Given the description of an element on the screen output the (x, y) to click on. 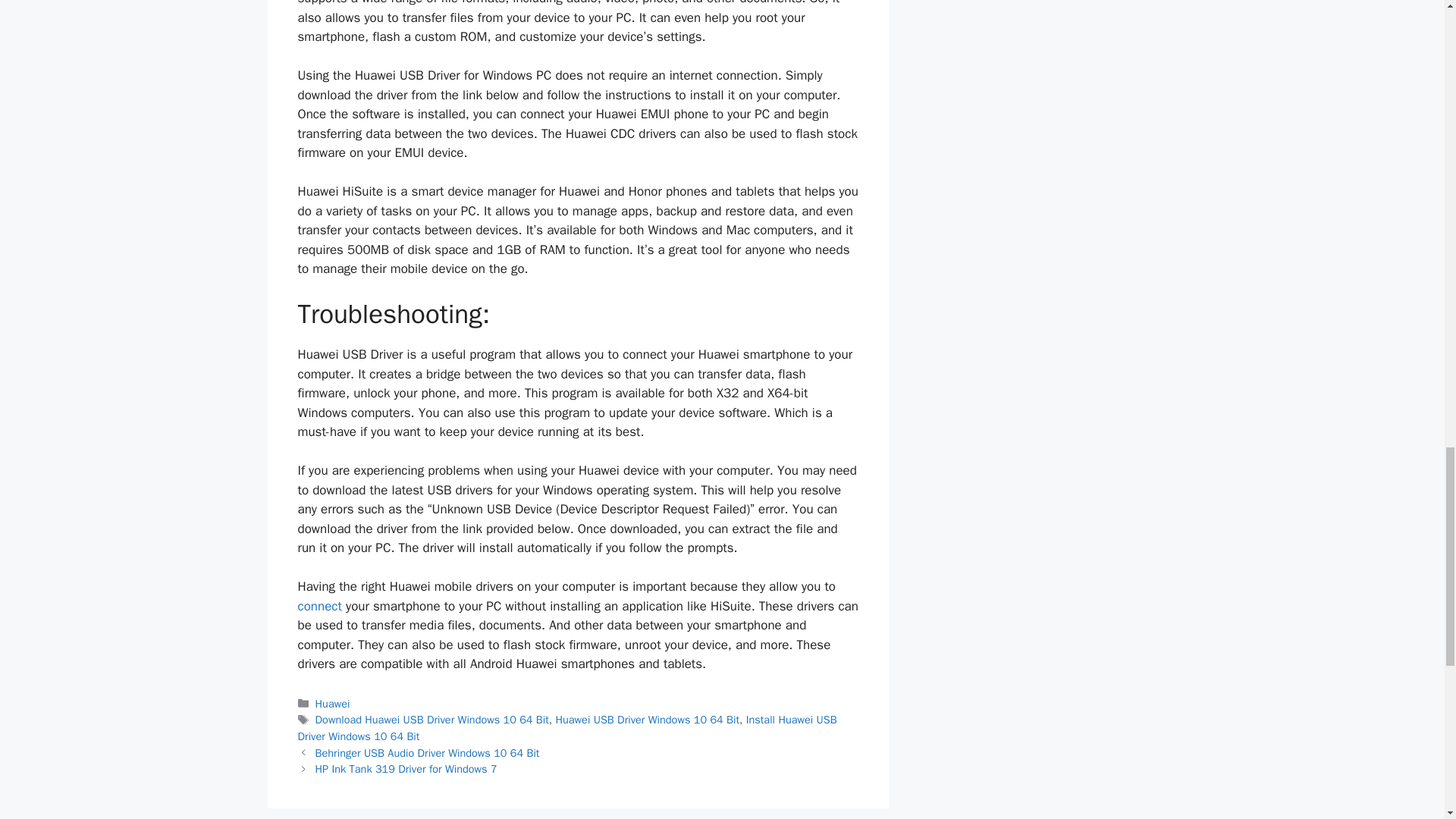
HP Ink Tank 319 Driver for Windows 7 (406, 768)
Behringer USB Audio Driver Windows 10 64 Bit (427, 753)
Download Huawei USB Driver Windows 10 64 Bit (431, 719)
Huawei USB Driver Windows 10 64 Bit (647, 719)
Huawei (332, 703)
connect (318, 606)
Install Huawei USB Driver Windows 10 64 Bit (566, 727)
